Given the description of an element on the screen output the (x, y) to click on. 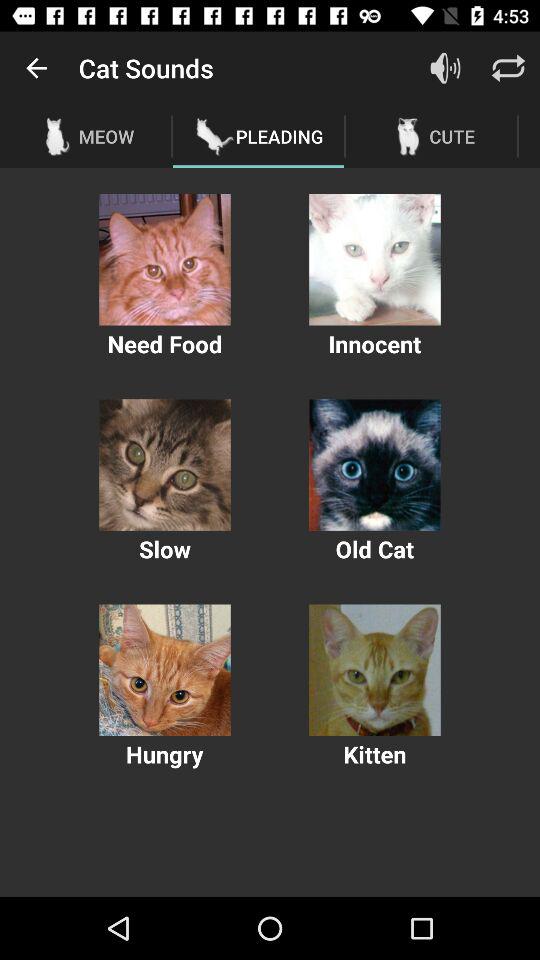
a selection button for old cat (374, 464)
